Given the description of an element on the screen output the (x, y) to click on. 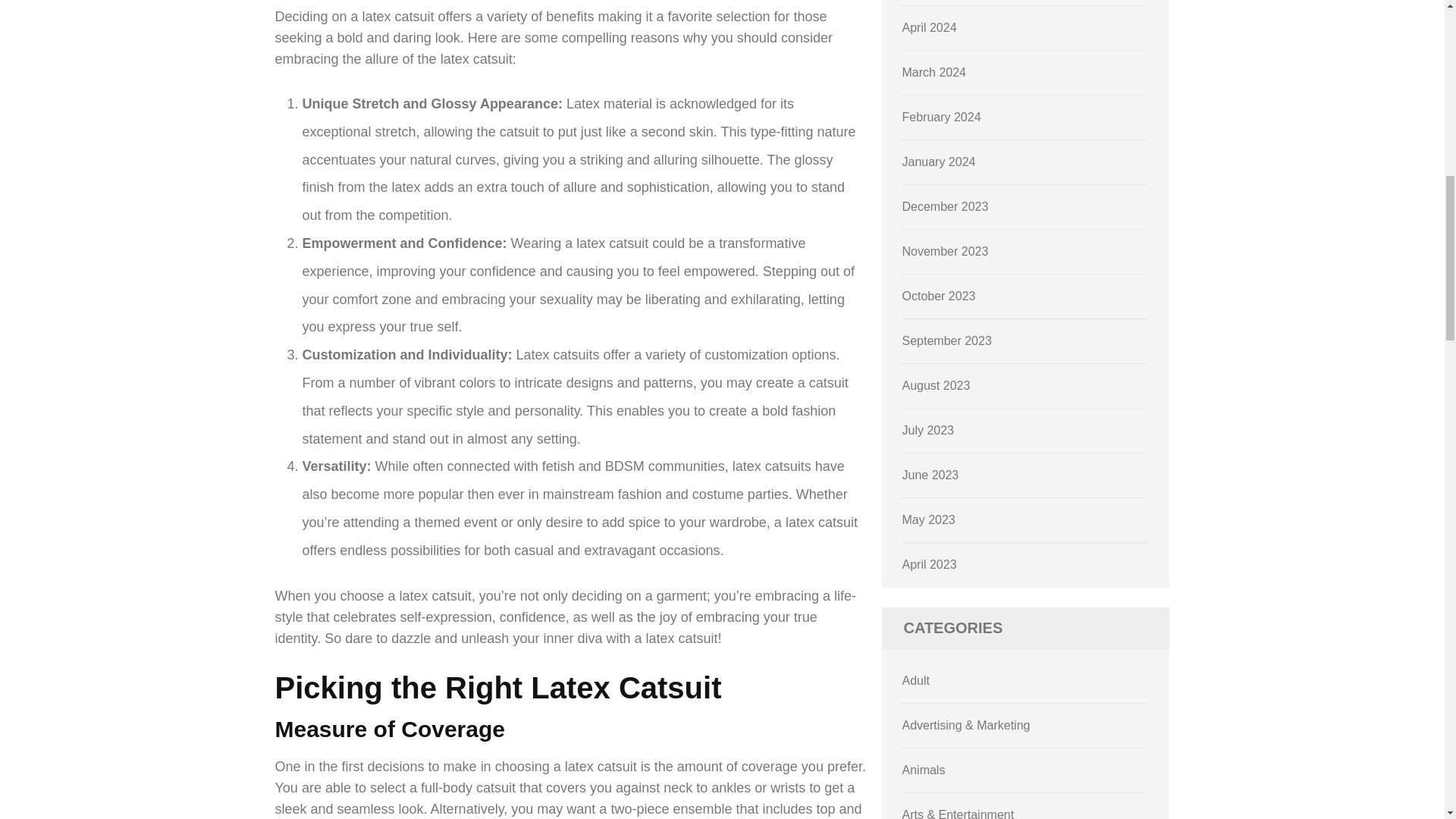
July 2023 (928, 430)
September 2023 (946, 340)
August 2023 (936, 385)
June 2023 (930, 474)
Adult (916, 680)
November 2023 (945, 250)
January 2024 (938, 161)
April 2023 (929, 563)
April 2024 (929, 27)
December 2023 (945, 205)
Animals (923, 769)
March 2024 (934, 72)
May 2023 (928, 519)
February 2024 (941, 116)
October 2023 (938, 295)
